Given the description of an element on the screen output the (x, y) to click on. 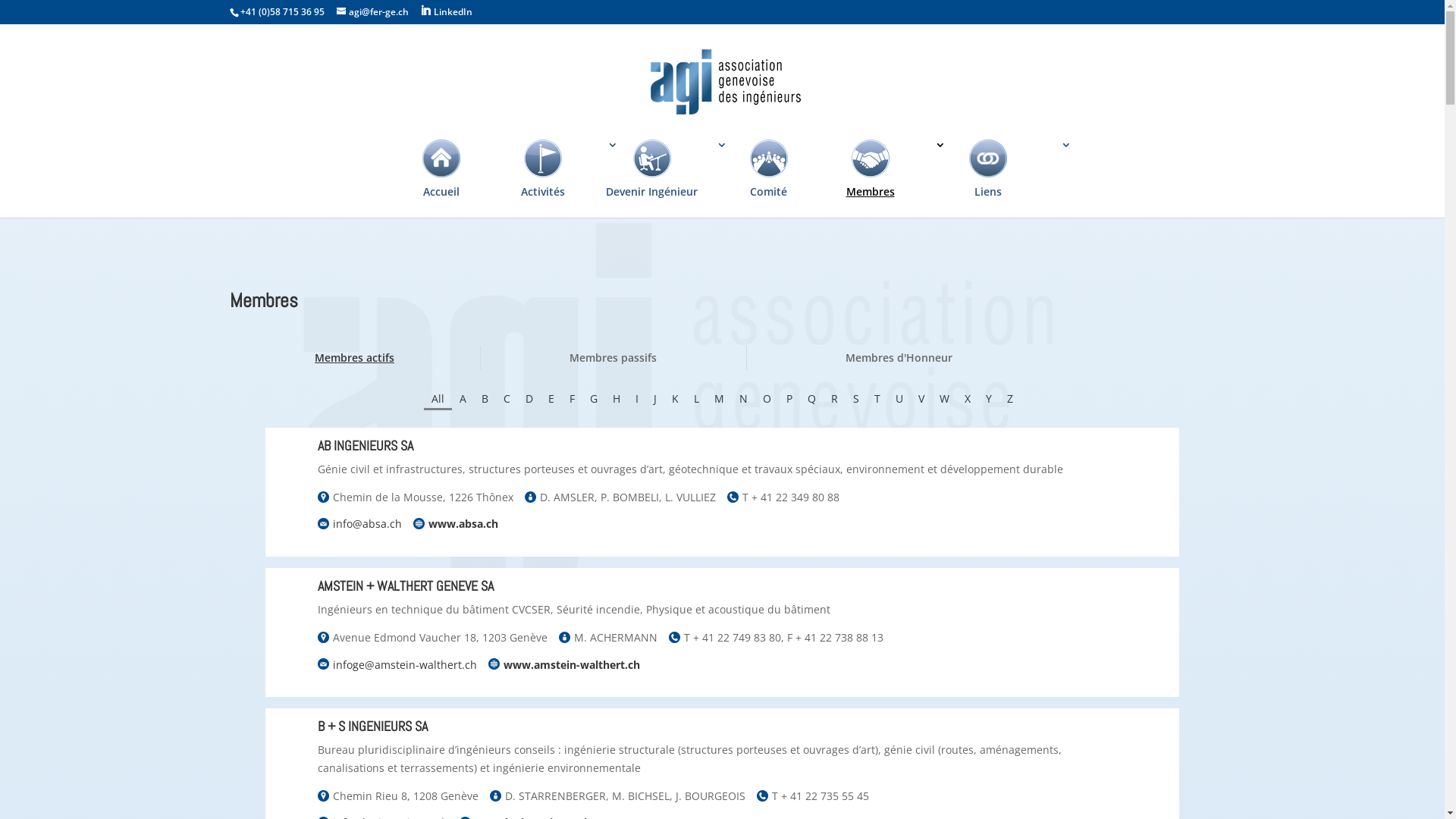
All Element type: text (437, 399)
Z Element type: text (1009, 398)
J Element type: text (655, 398)
Y Element type: text (988, 398)
Liens Element type: text (994, 178)
U Element type: text (899, 398)
N Element type: text (743, 398)
www.absa.ch Element type: text (463, 523)
E Element type: text (550, 398)
K Element type: text (675, 398)
Membres Element type: text (876, 178)
W Element type: text (944, 398)
Membres actifs Element type: text (354, 357)
Membres d'Honneur Element type: text (898, 357)
C Element type: text (506, 398)
www.amstein-walthert.ch Element type: text (571, 664)
G Element type: text (593, 398)
T Element type: text (877, 398)
Q Element type: text (811, 398)
A Element type: text (462, 398)
infoge@amstein-walthert.ch Element type: text (404, 664)
Membres passifs Element type: text (613, 357)
M Element type: text (718, 398)
F Element type: text (571, 398)
X Element type: text (967, 398)
V Element type: text (920, 398)
LinkedIn Element type: text (446, 11)
I Element type: text (636, 398)
B Element type: text (484, 398)
R Element type: text (834, 398)
S Element type: text (855, 398)
info@absa.ch Element type: text (366, 523)
Accueil Element type: text (440, 178)
L Element type: text (696, 398)
D Element type: text (528, 398)
P Element type: text (789, 398)
agi@fer-ge.ch Element type: text (372, 11)
H Element type: text (616, 398)
O Element type: text (766, 398)
